Given the description of an element on the screen output the (x, y) to click on. 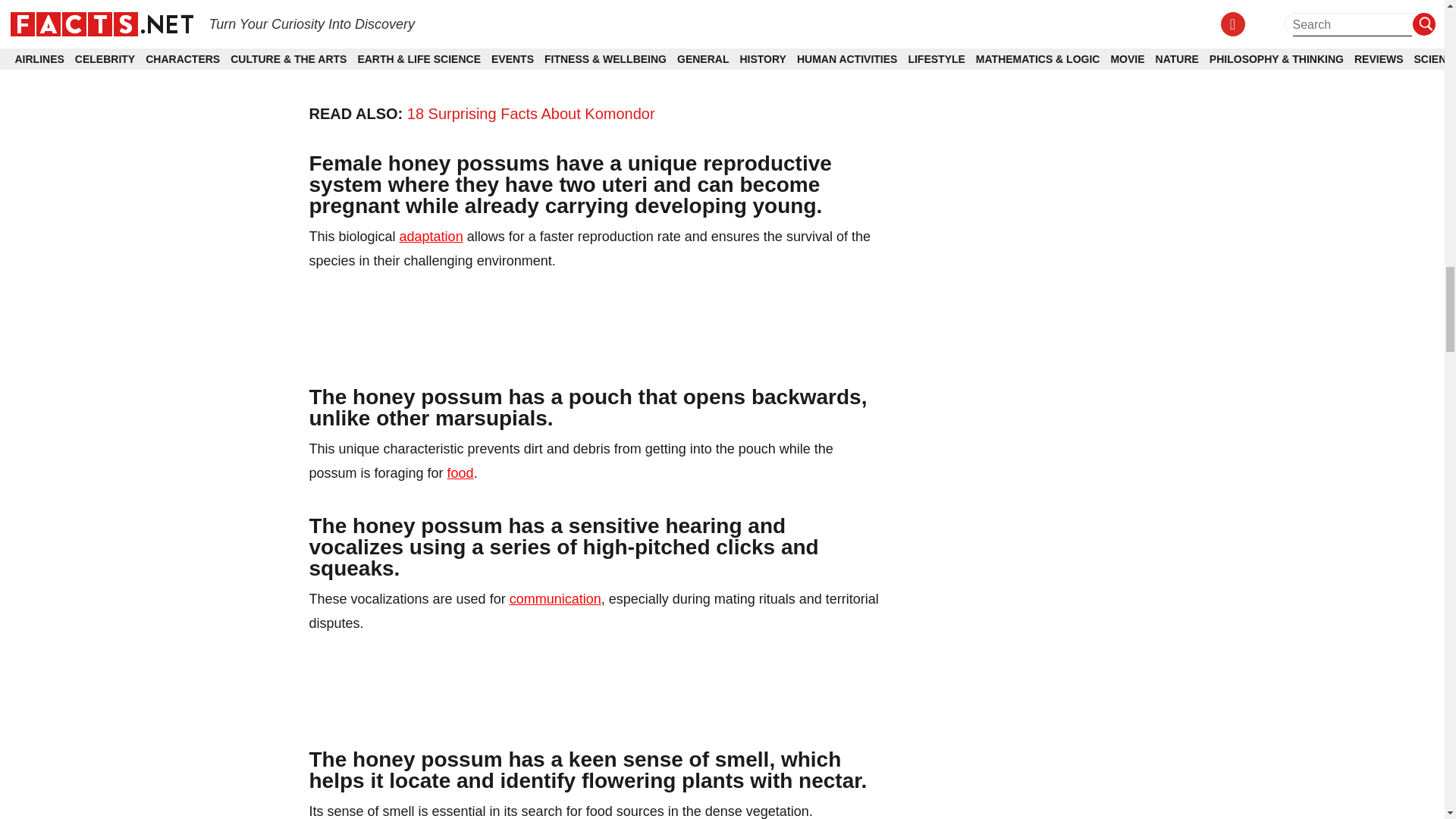
food (460, 473)
communication (555, 598)
adaptation (430, 236)
